Given the description of an element on the screen output the (x, y) to click on. 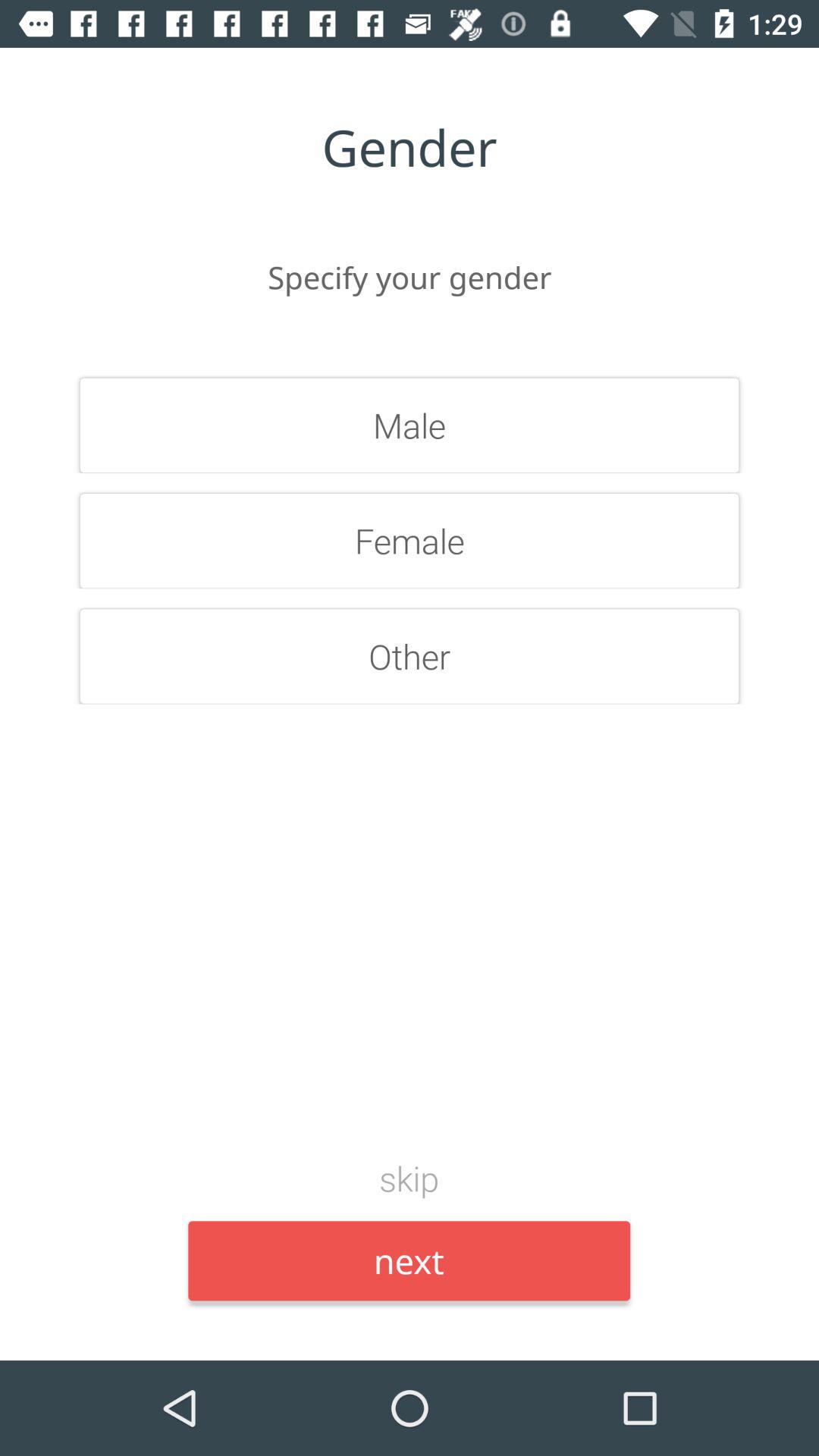
tap the item below the specify your gender app (409, 425)
